Given the description of an element on the screen output the (x, y) to click on. 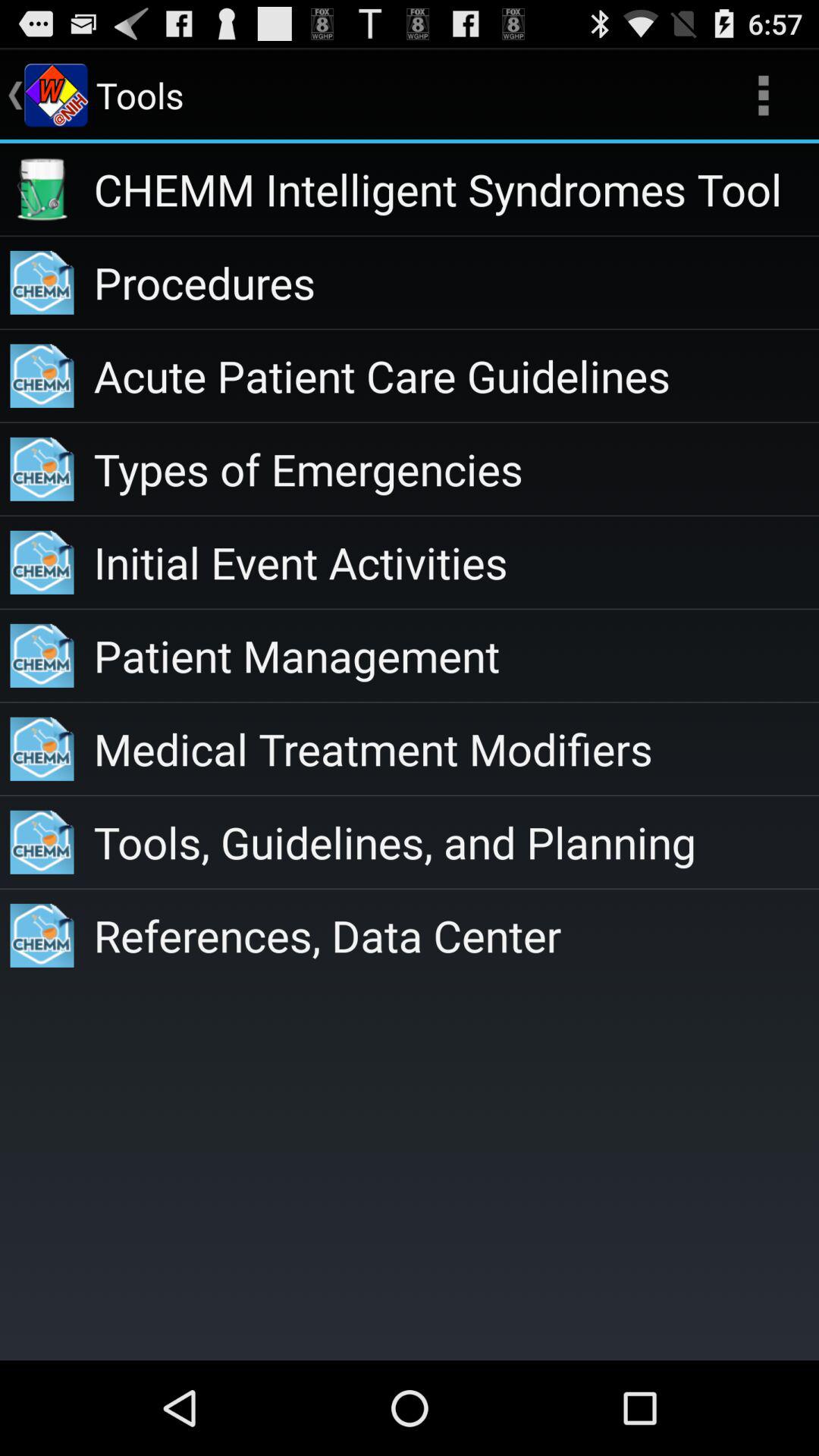
select patient management app (456, 655)
